Given the description of an element on the screen output the (x, y) to click on. 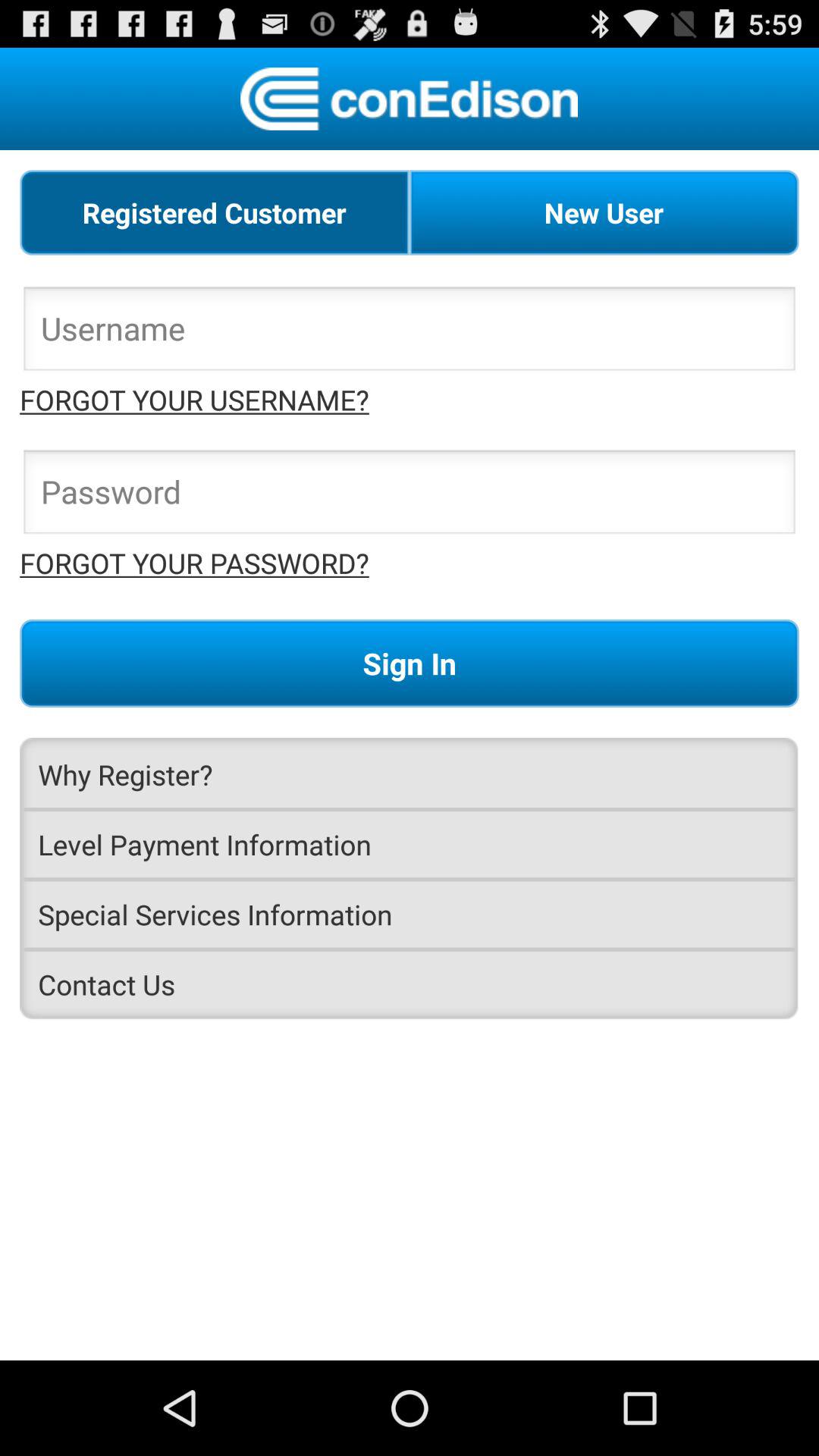
scroll until the why register? (409, 774)
